Given the description of an element on the screen output the (x, y) to click on. 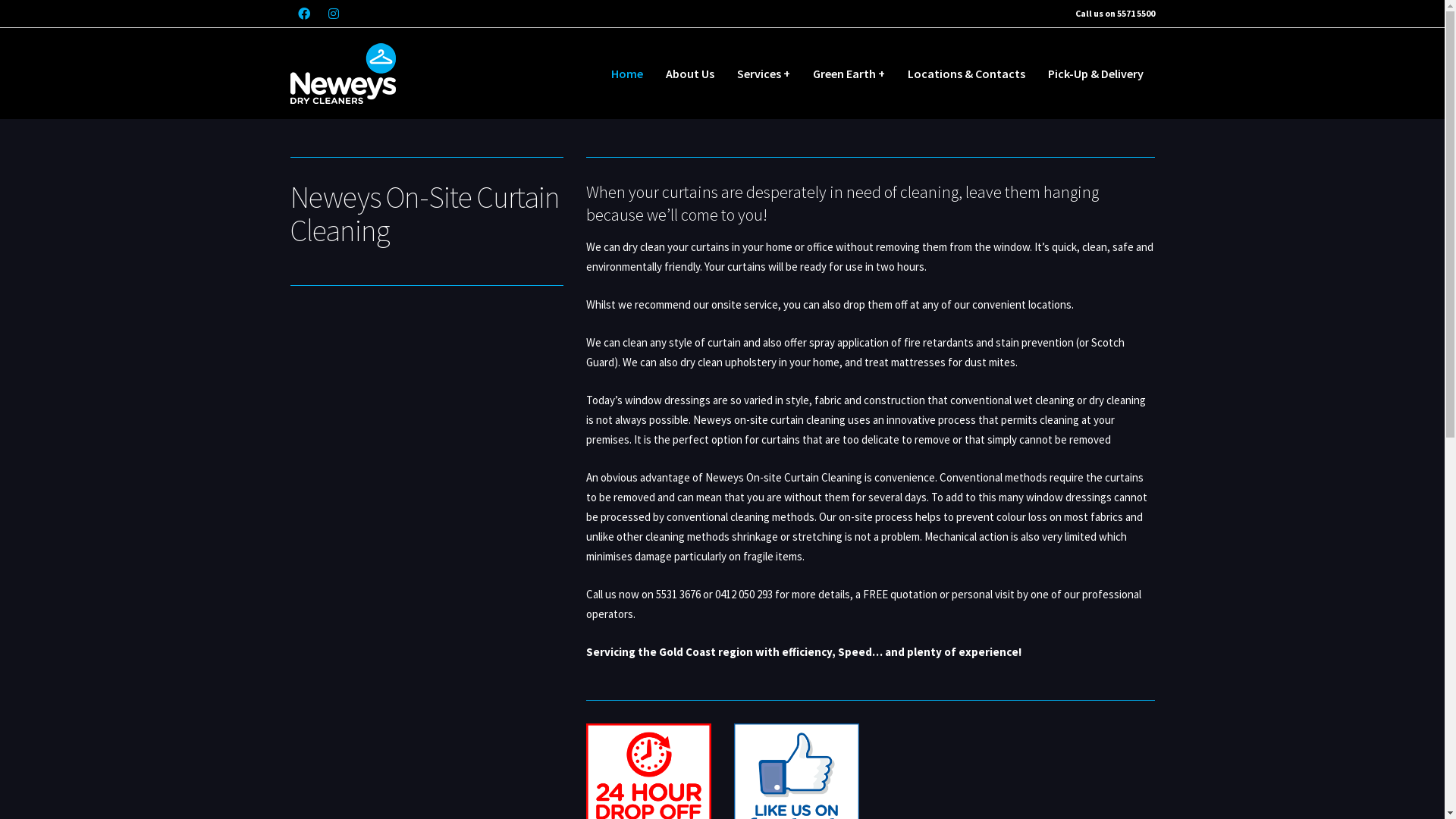
Locations & Contacts Element type: text (966, 73)
Green Earth + Element type: text (847, 73)
About Us Element type: text (688, 73)
Home Element type: text (626, 73)
Services + Element type: text (762, 73)
Pick-Up & Delivery Element type: text (1094, 73)
